Given the description of an element on the screen output the (x, y) to click on. 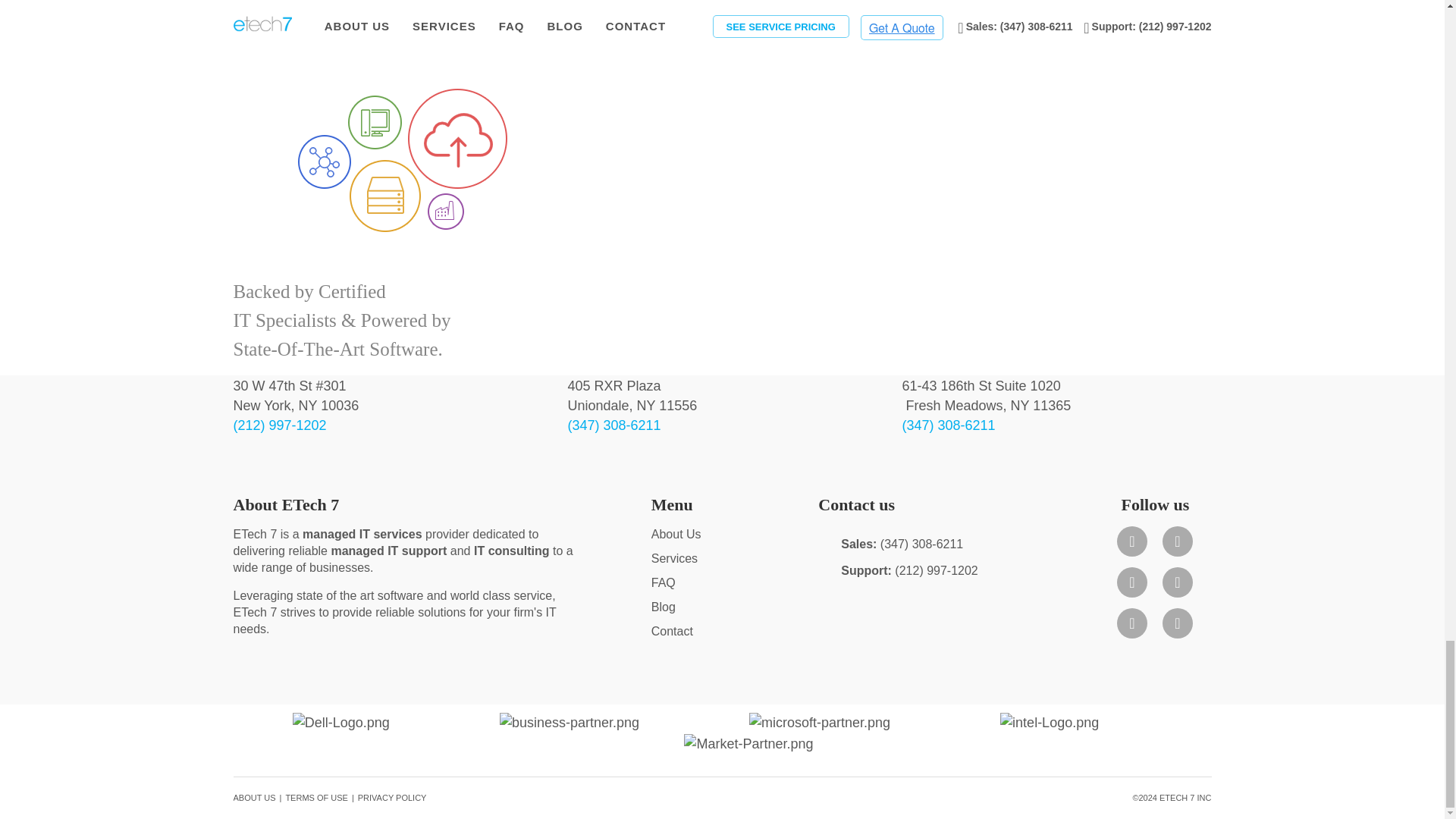
microsoft-partner.png (819, 722)
Dell-Logo.png (341, 722)
intel-Logo.png (1049, 722)
business-partner.png (569, 722)
Market-Partner.png (748, 742)
